Given the description of an element on the screen output the (x, y) to click on. 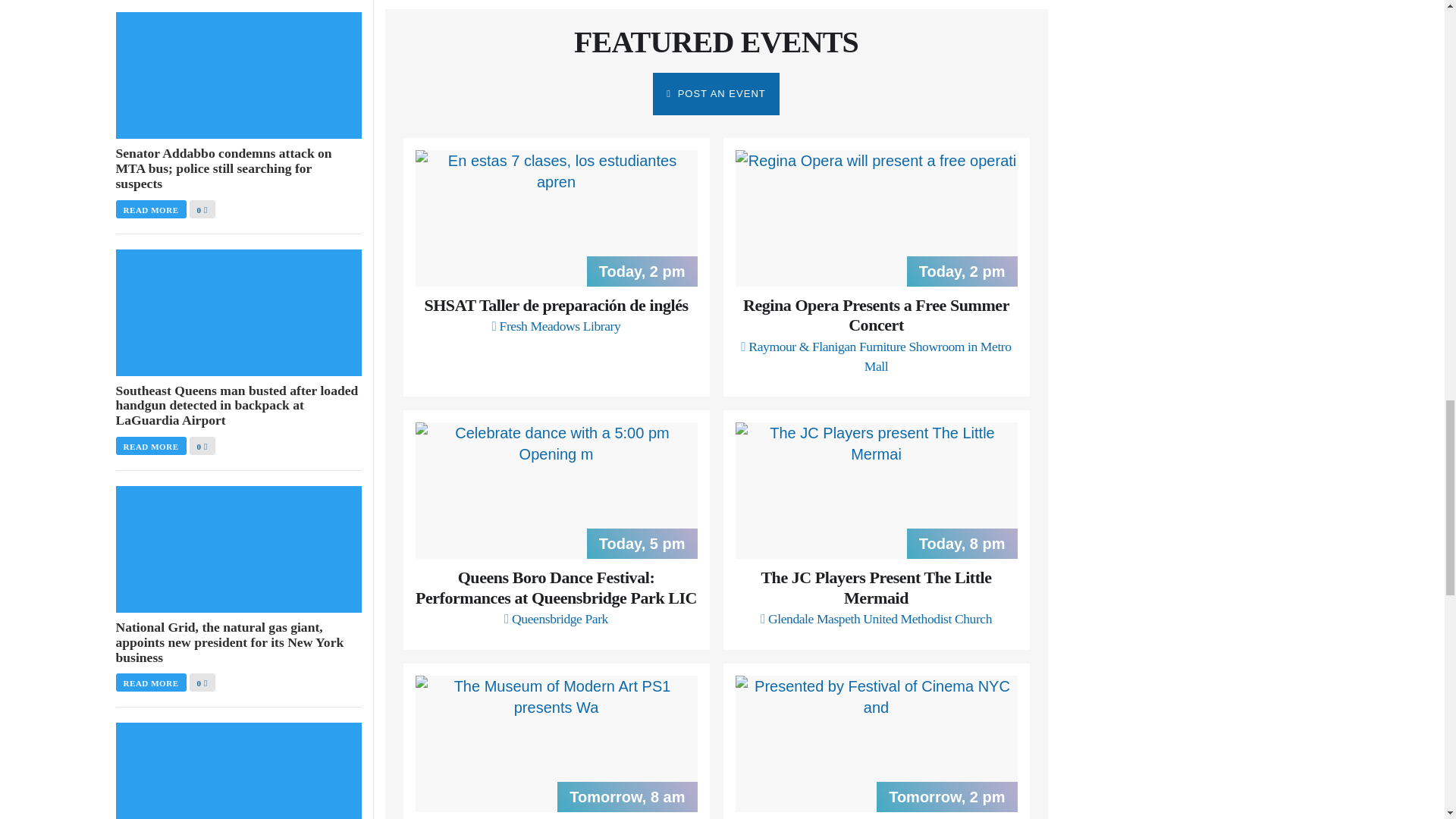
POST AN EVENT (715, 93)
FEATURED EVENTS (716, 41)
